Given the description of an element on the screen output the (x, y) to click on. 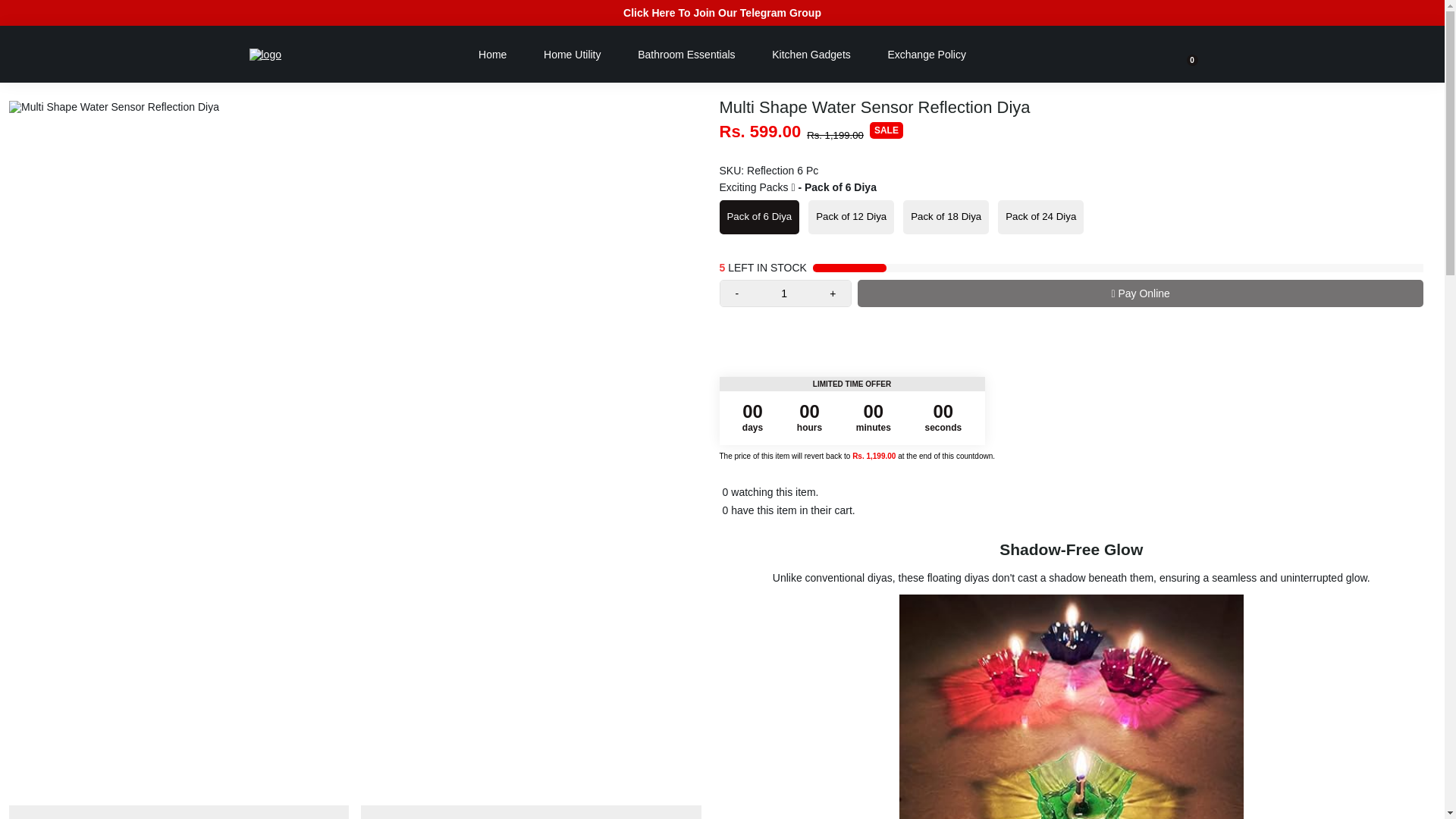
Home (492, 53)
Exchange Policy (925, 53)
Click Here To Join Our Telegram Group (722, 12)
1 (783, 293)
Bathroom Essentials (686, 53)
- (737, 293)
Kitchen Gadgets (810, 53)
Home Utility (571, 53)
